Given the description of an element on the screen output the (x, y) to click on. 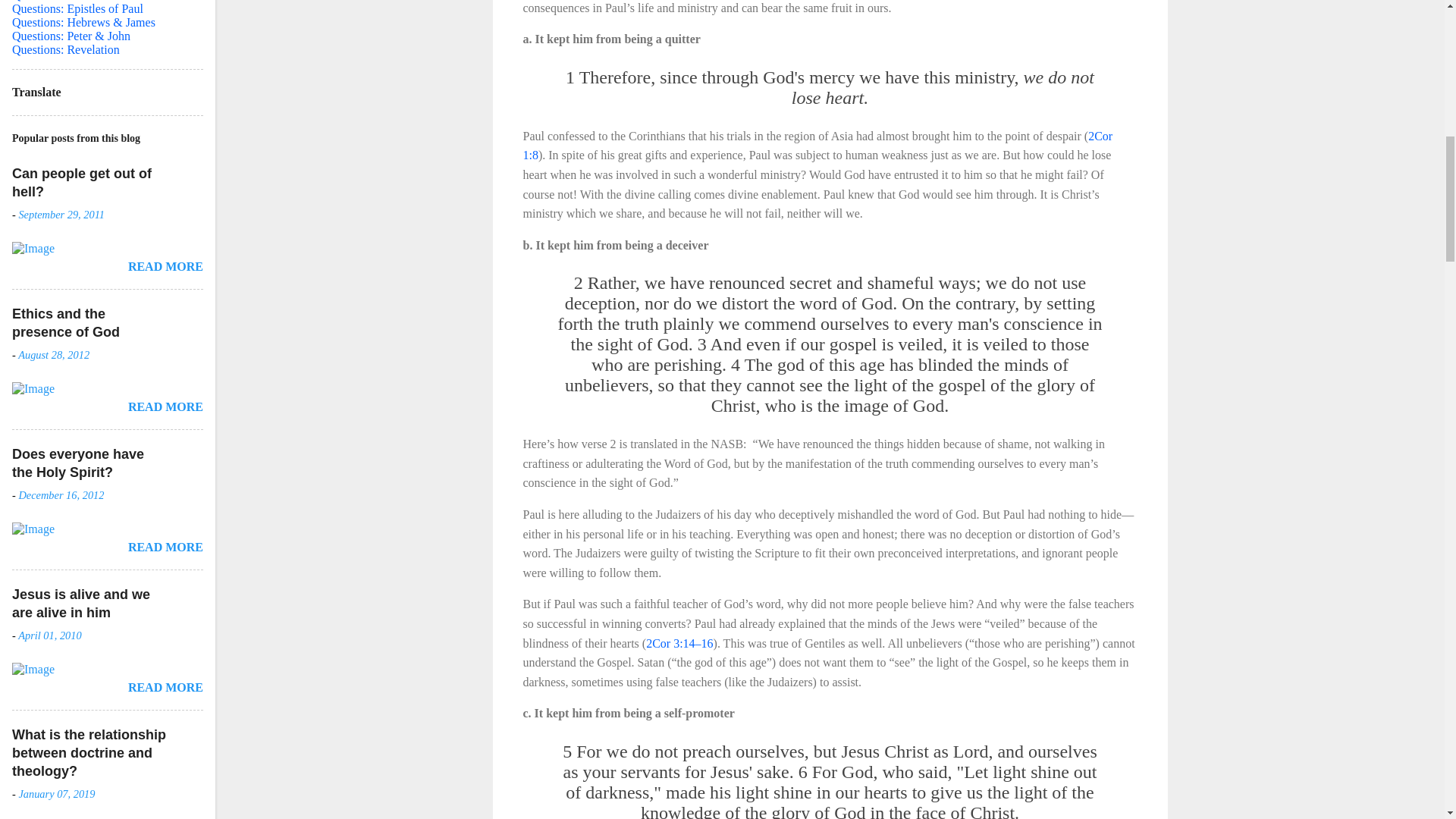
permanent link (60, 214)
2Cor 1:8 (817, 145)
